Given the description of an element on the screen output the (x, y) to click on. 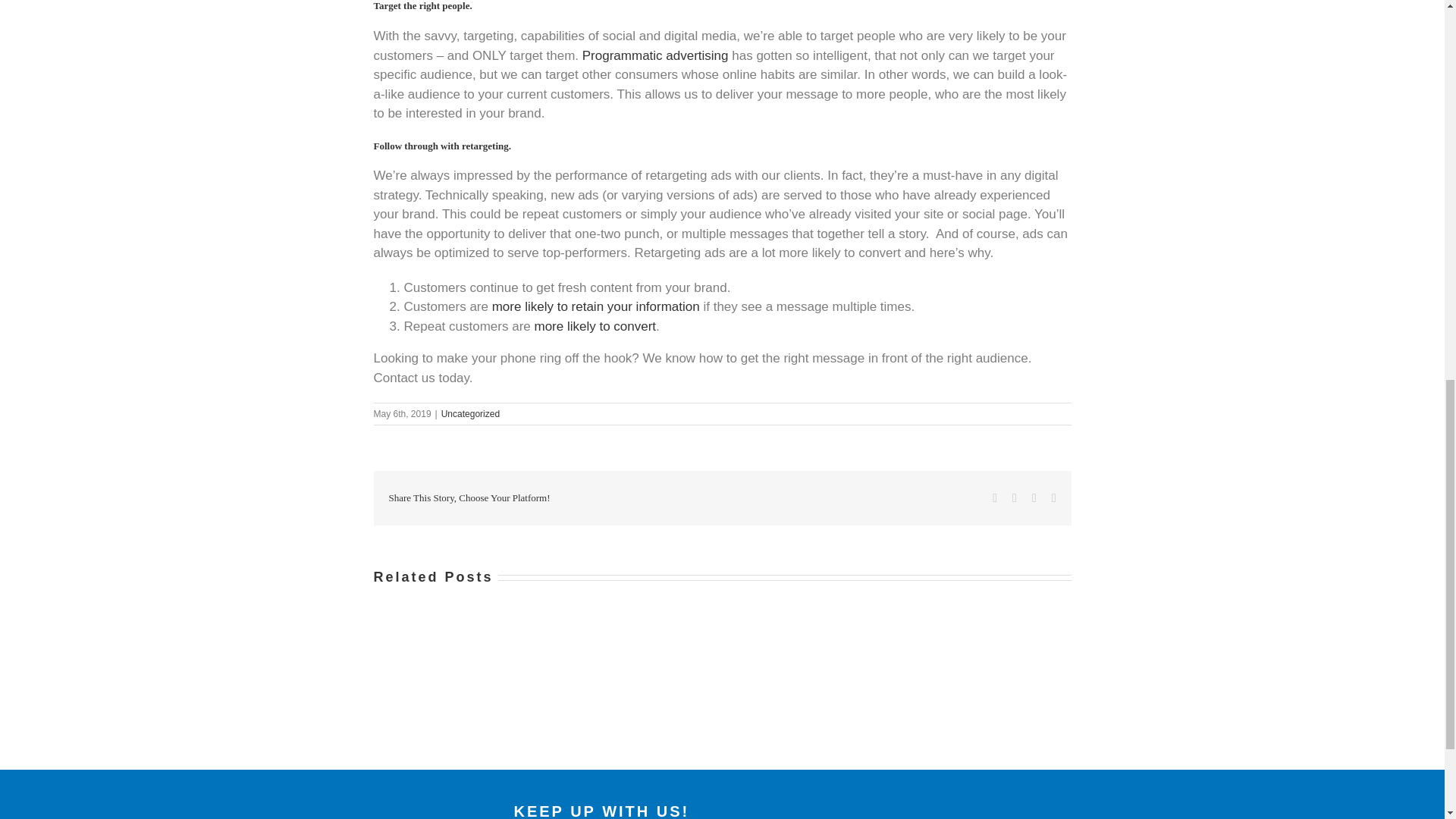
more likely to convert (595, 326)
Programmatic advertising (655, 55)
Uncategorized (470, 413)
more likely to retain your information (596, 306)
